Given the description of an element on the screen output the (x, y) to click on. 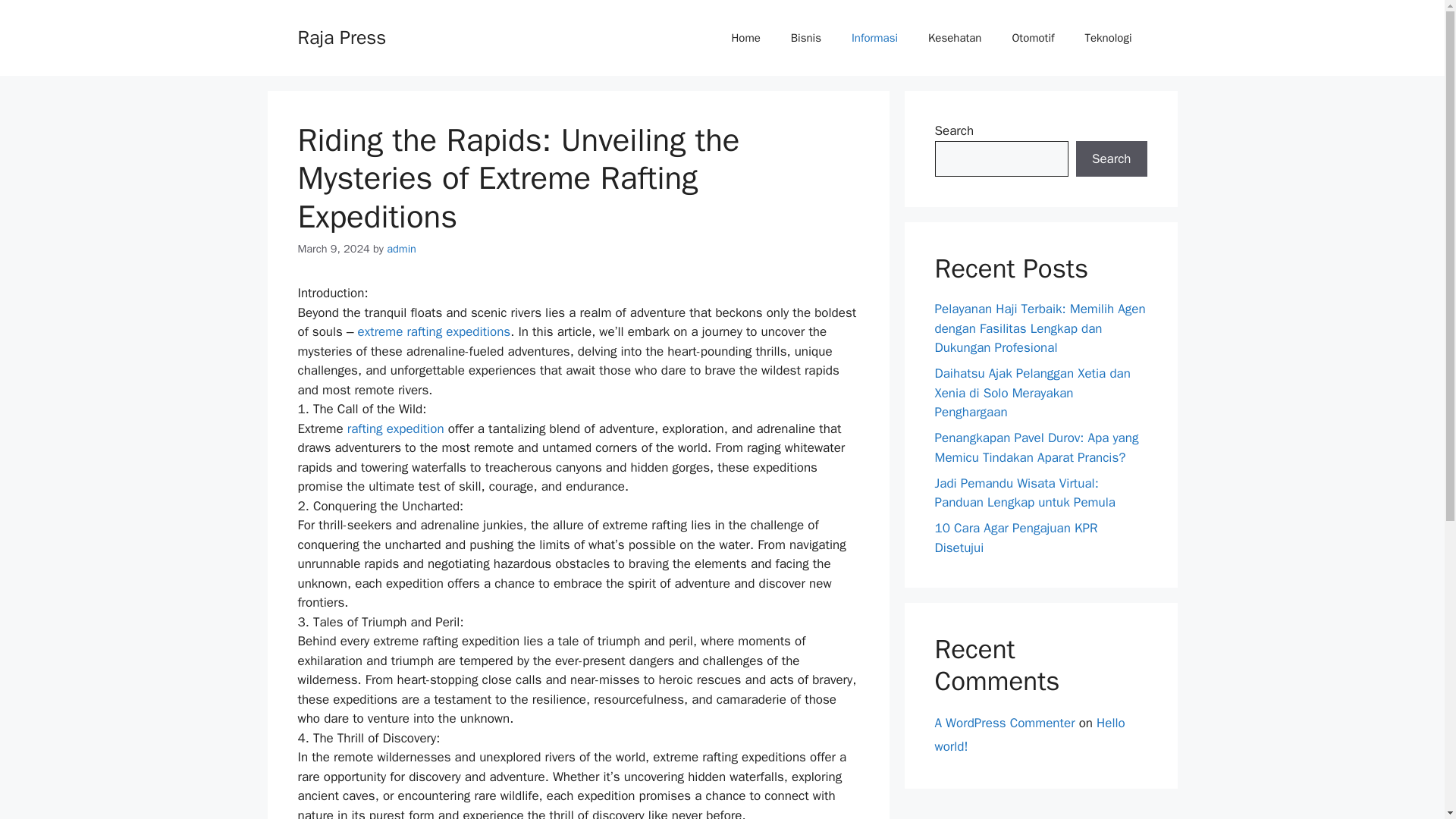
Informasi (873, 37)
Otomotif (1031, 37)
A WordPress Commenter (1004, 722)
Teknologi (1107, 37)
Kesehatan (953, 37)
rafting expedition (395, 428)
10 Cara Agar Pengajuan KPR Disetujui (1015, 538)
Search (1111, 158)
Home (745, 37)
